Given the description of an element on the screen output the (x, y) to click on. 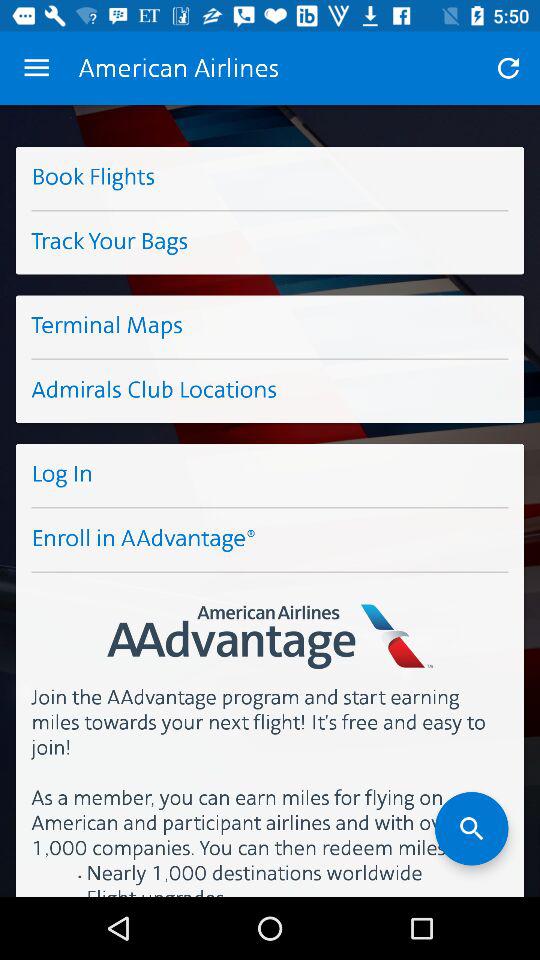
tap the item below the book flights icon (269, 242)
